Given the description of an element on the screen output the (x, y) to click on. 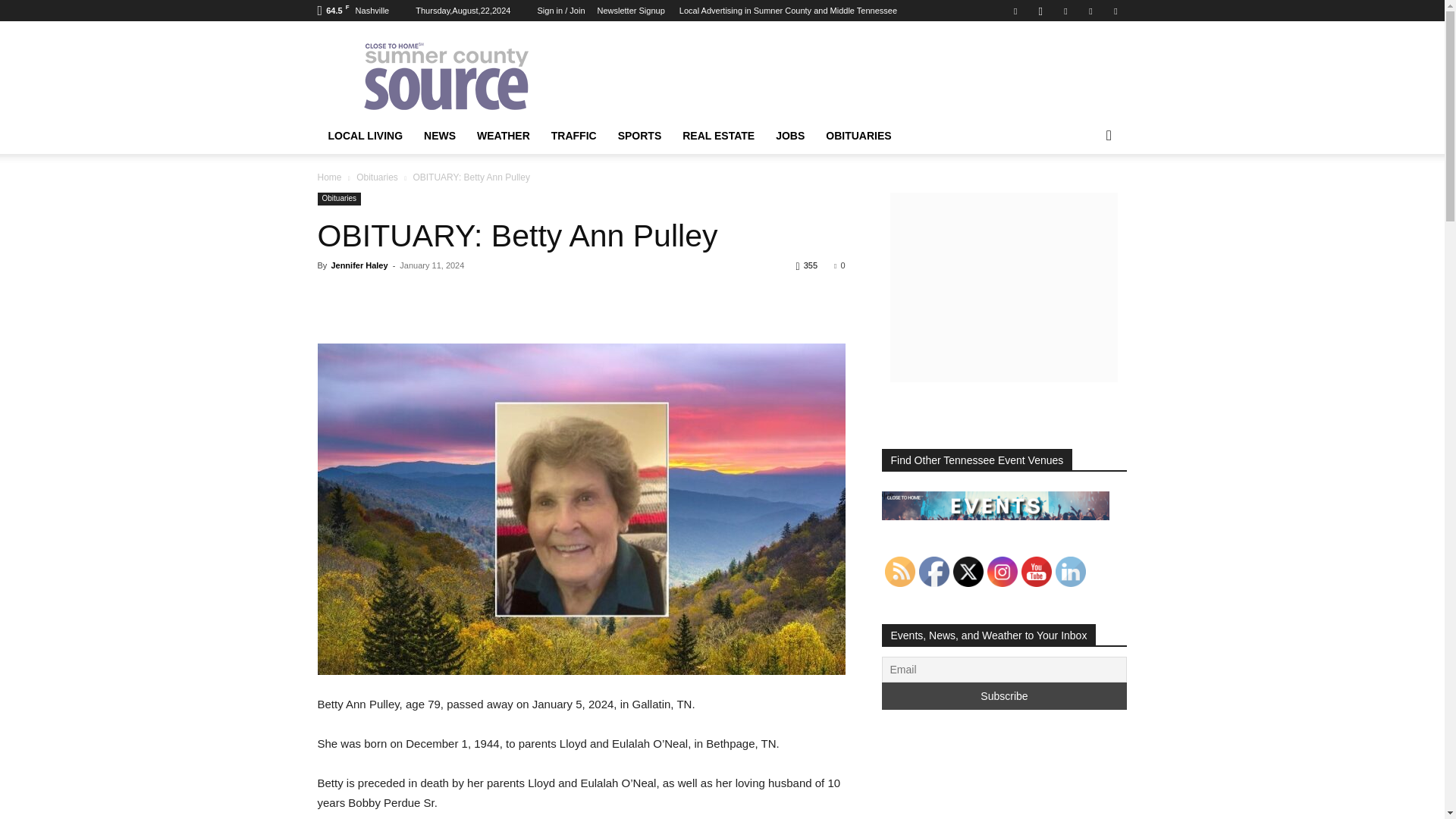
Youtube (1114, 10)
Subscribe (1003, 696)
Pinterest (1065, 10)
Sumner County Source (445, 76)
Facebook (1015, 10)
Instagram (1040, 10)
Twitter (1090, 10)
